Given the description of an element on the screen output the (x, y) to click on. 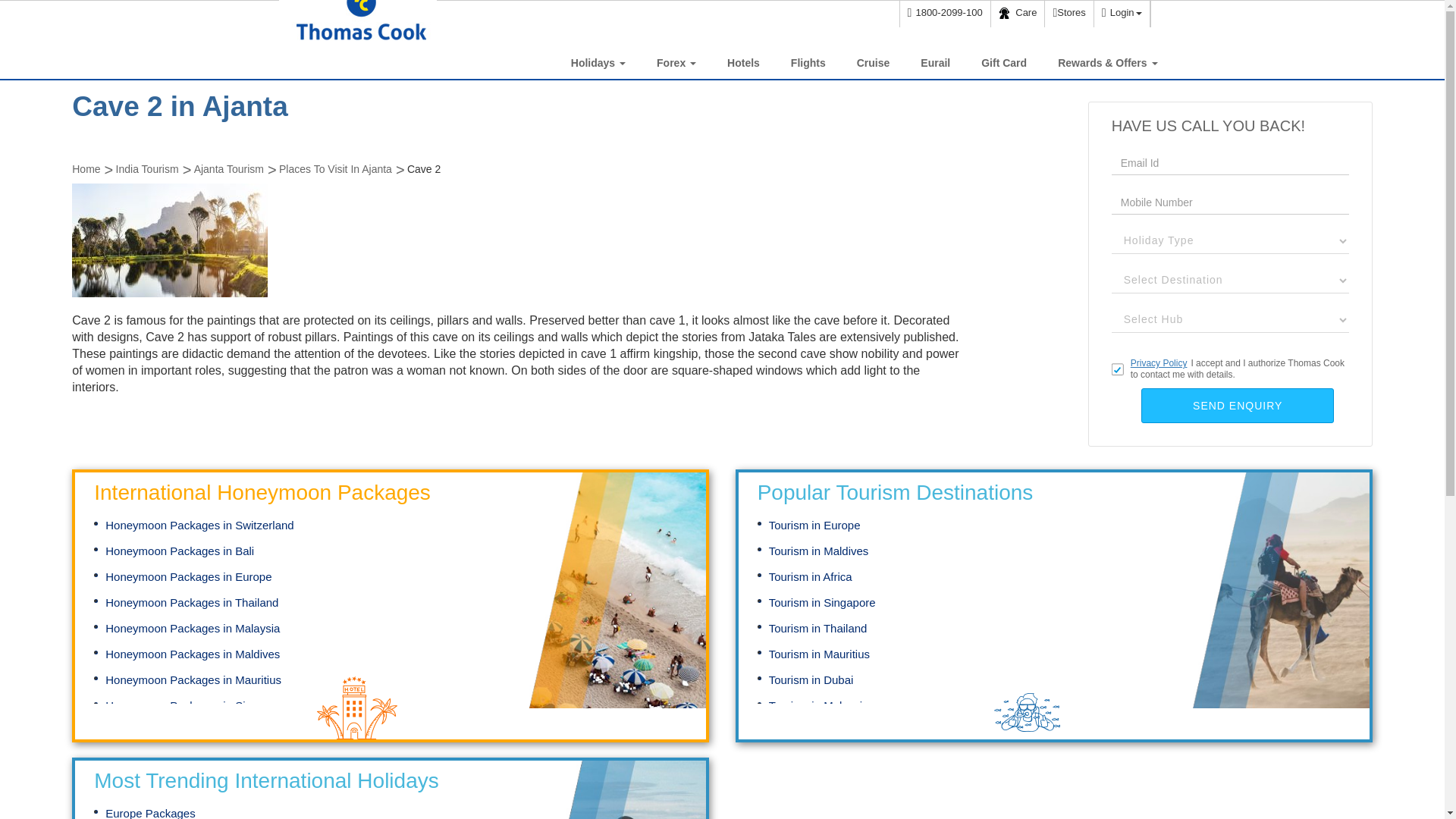
1800-2099-100 (944, 13)
Care (1017, 13)
Login (1121, 13)
Stores (1068, 13)
